Given the description of an element on the screen output the (x, y) to click on. 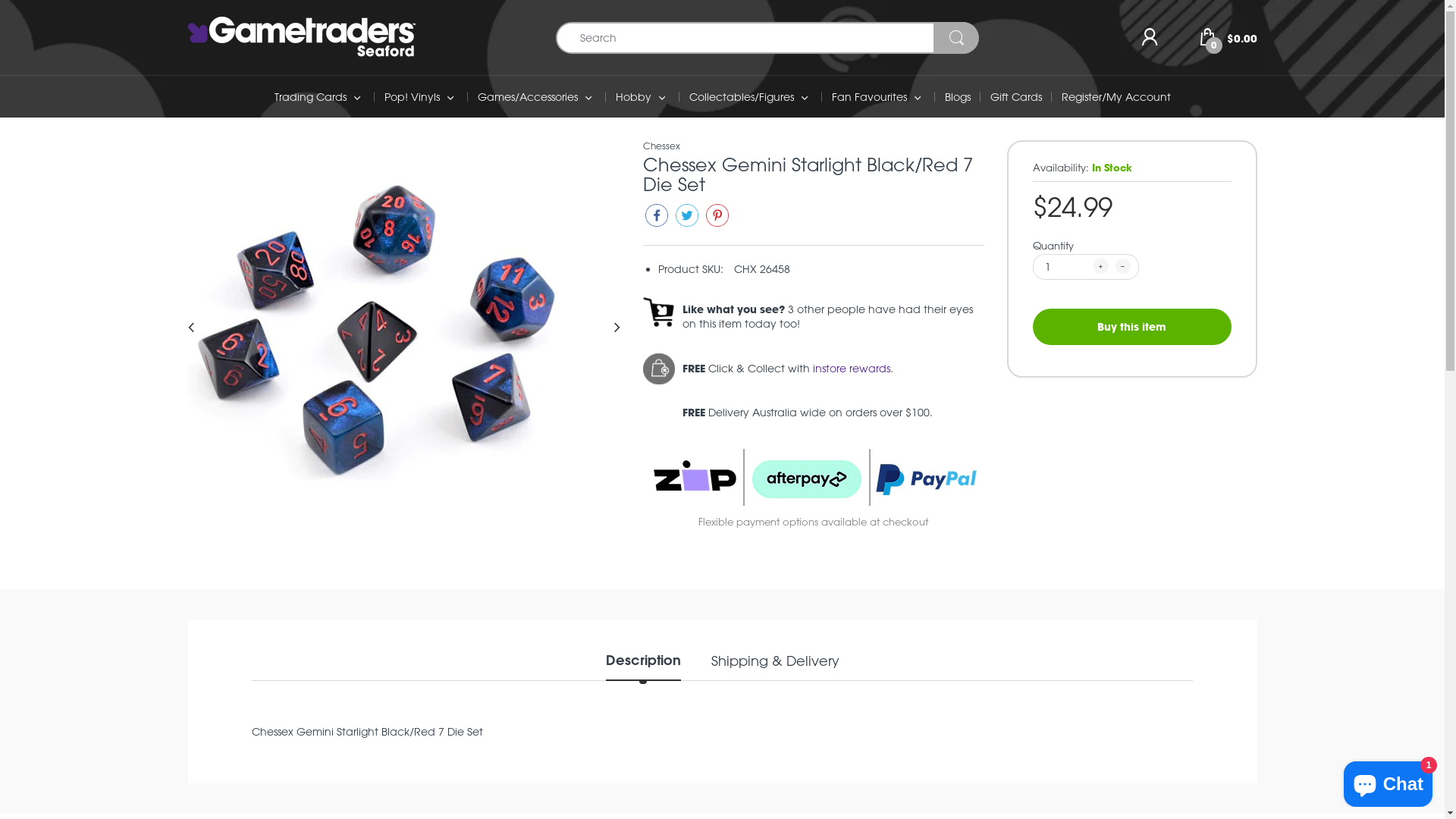
Register/My Account Element type: text (1115, 96)
Twitter Element type: hover (686, 218)
Hobby Element type: text (633, 96)
Games/Accessories Element type: text (527, 96)
instore rewards Element type: text (851, 367)
0
$0.00 Element type: text (1228, 36)
My Account Element type: hover (1149, 37)
Pop! Vinyls Element type: text (411, 96)
Increase Element type: hover (1100, 265)
gametradersseaford.com.au Element type: hover (301, 35)
Shipping & Delivery Element type: text (775, 665)
Decrease Element type: hover (1121, 265)
Buy this item Element type: text (1131, 325)
Collectables/Figures Element type: text (740, 96)
Fan Favourites Element type: text (868, 96)
Description Element type: text (642, 665)
Chessex Element type: text (661, 145)
Facebook Element type: hover (656, 218)
Pinterest Element type: hover (717, 218)
Shopify online store chat Element type: hover (1388, 780)
Gift Cards Element type: text (1015, 96)
Trading Cards Element type: text (310, 96)
Blogs Element type: text (957, 96)
